Given the description of an element on the screen output the (x, y) to click on. 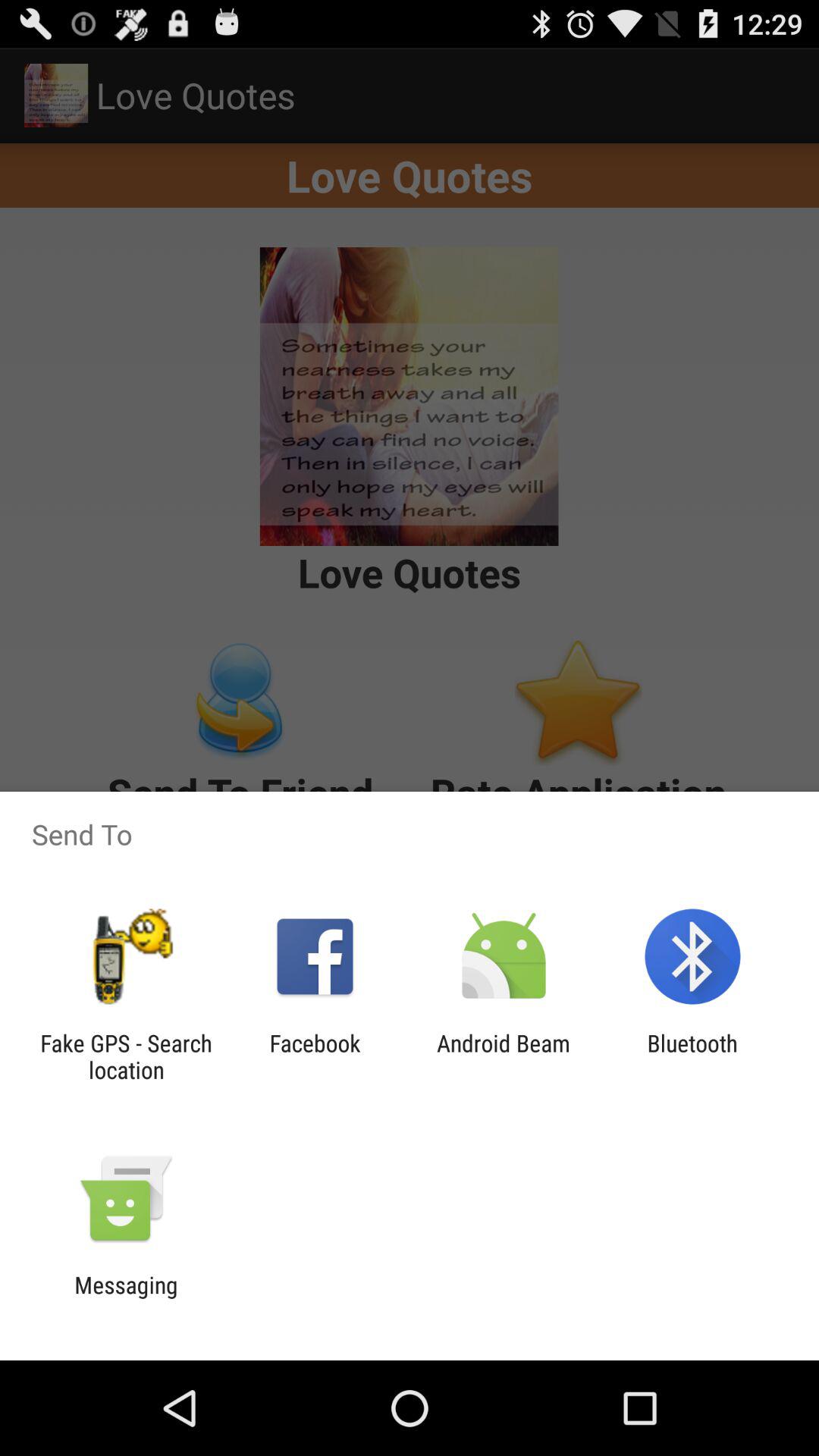
open item next to the facebook (503, 1056)
